Given the description of an element on the screen output the (x, y) to click on. 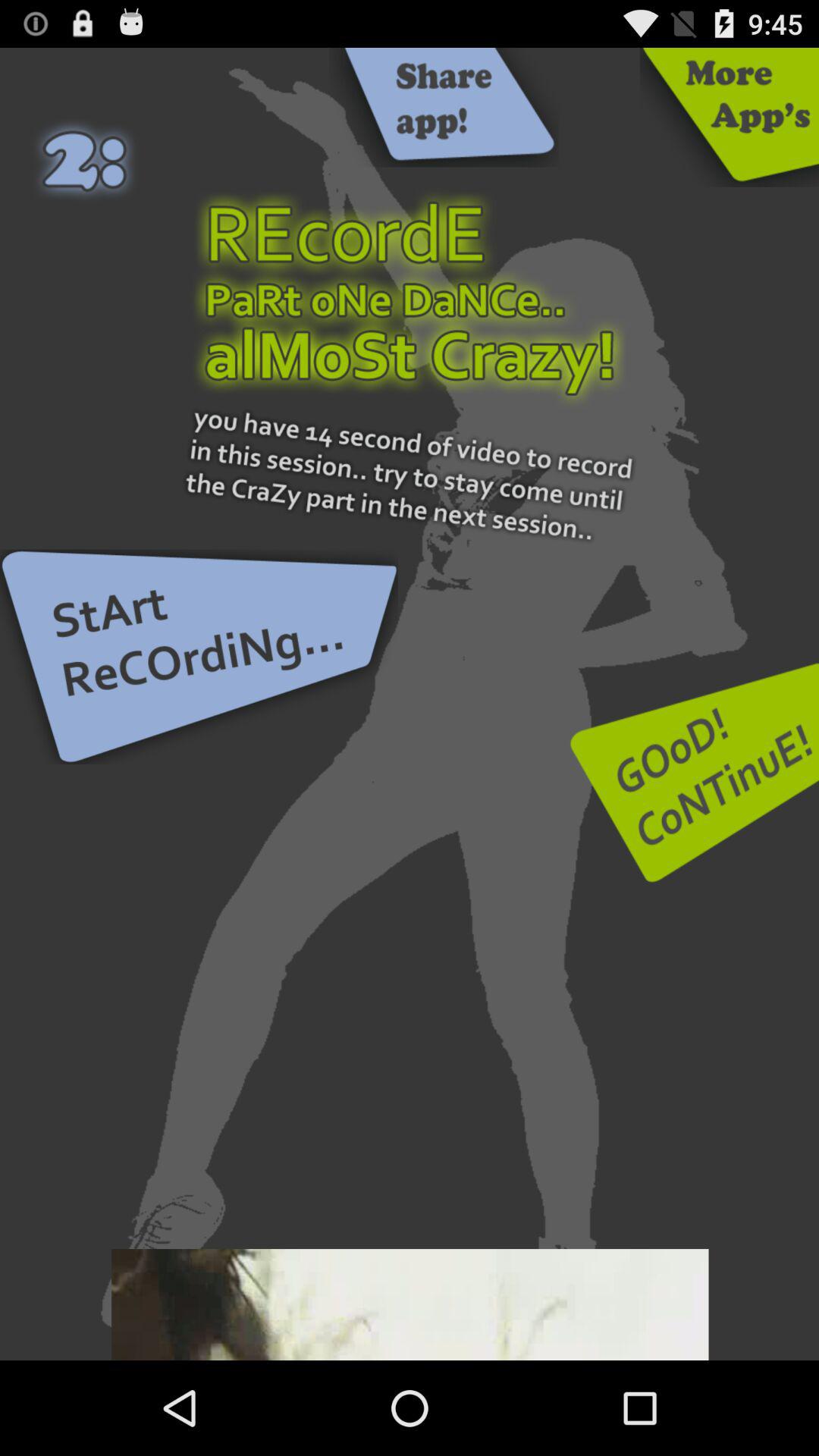
adverisment (409, 1304)
